Given the description of an element on the screen output the (x, y) to click on. 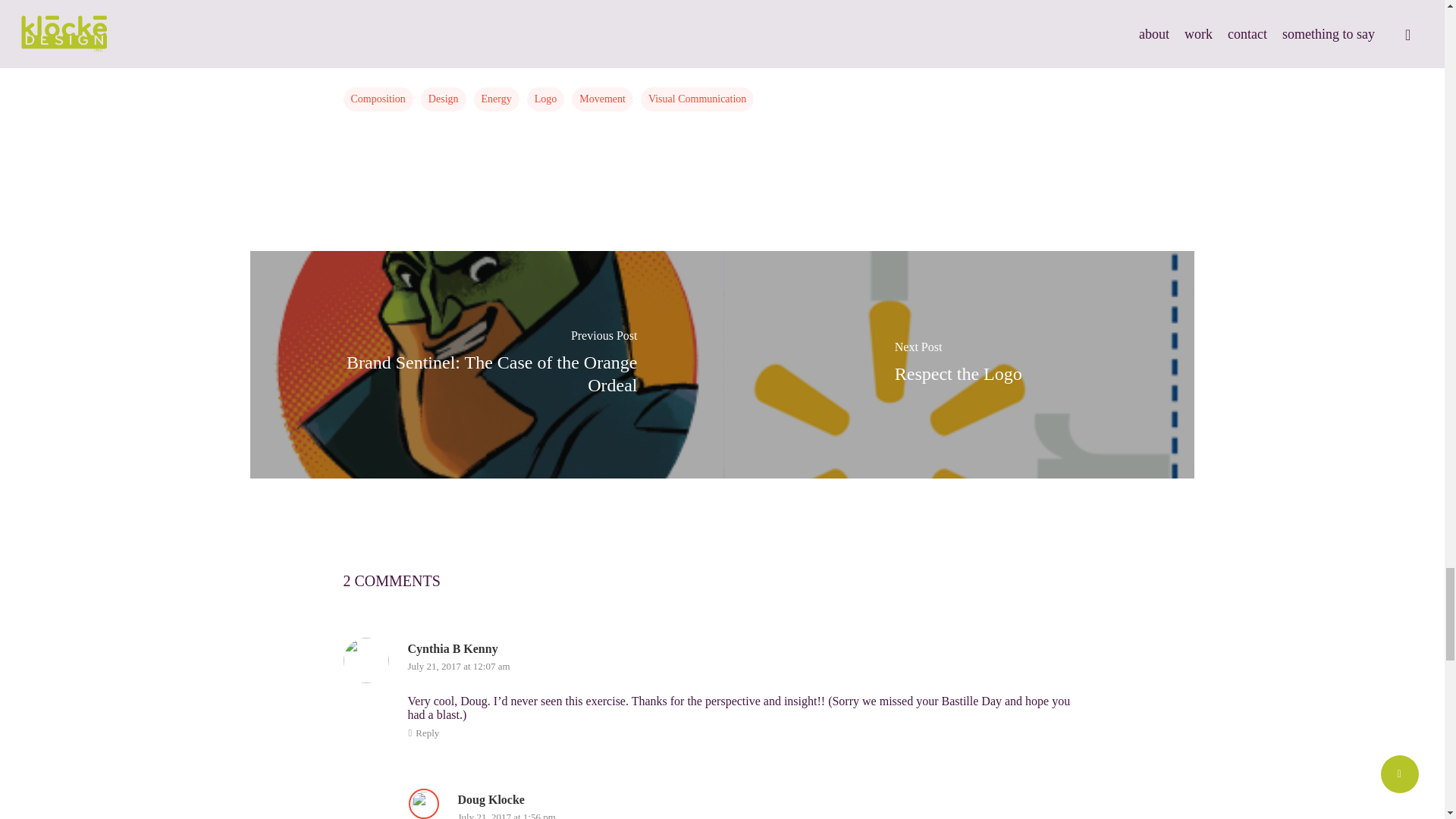
July 21, 2017 at 1:56 pm (507, 815)
Energy (496, 98)
Visual Communication (697, 98)
Design (442, 98)
Movement (602, 98)
July 21, 2017 at 12:07 am (459, 665)
Reply (423, 732)
Composition (377, 98)
Logo (545, 98)
